Given the description of an element on the screen output the (x, y) to click on. 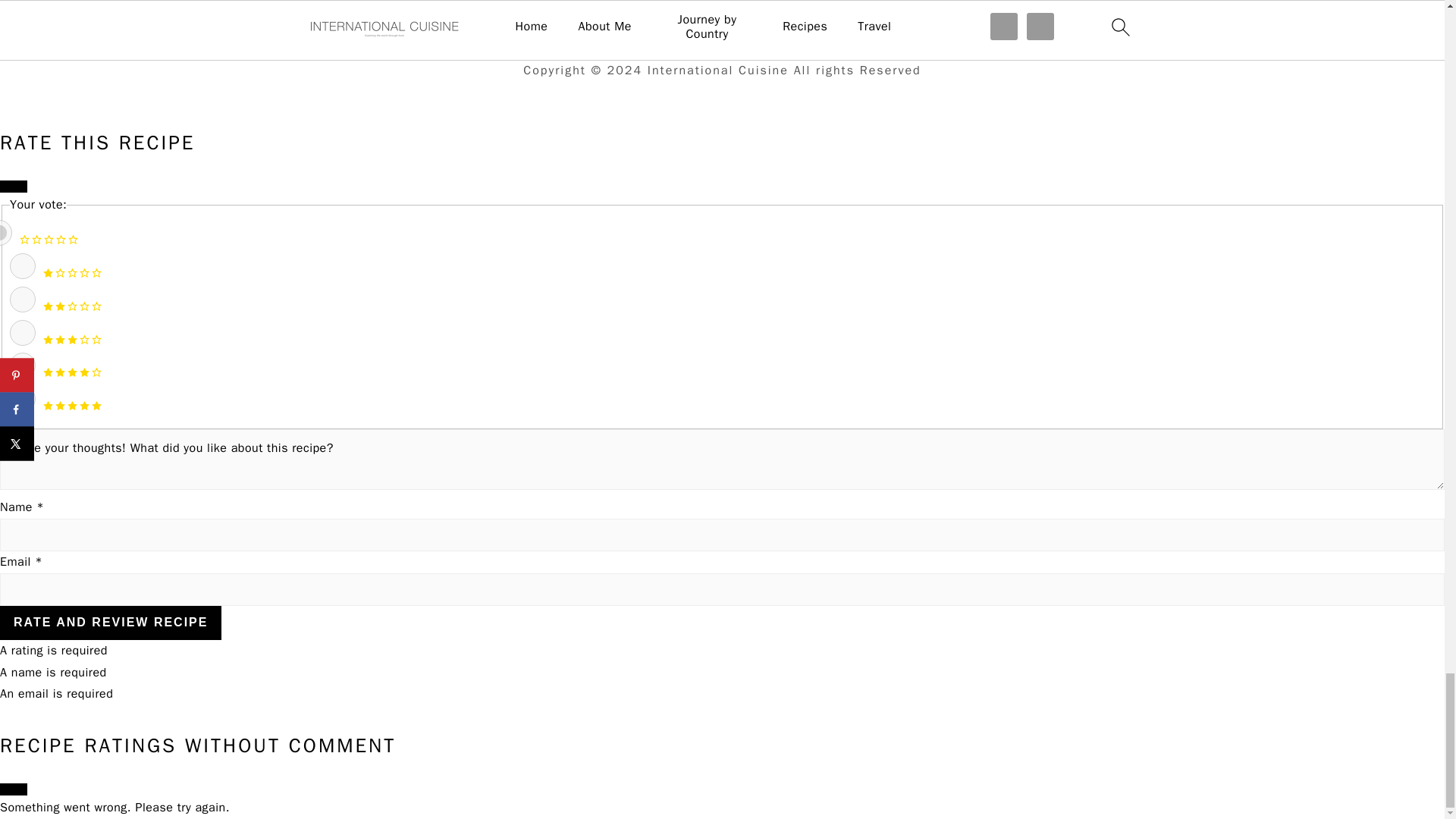
1 (22, 266)
4 (22, 365)
3 (22, 332)
5 (22, 398)
2 (22, 299)
